Given the description of an element on the screen output the (x, y) to click on. 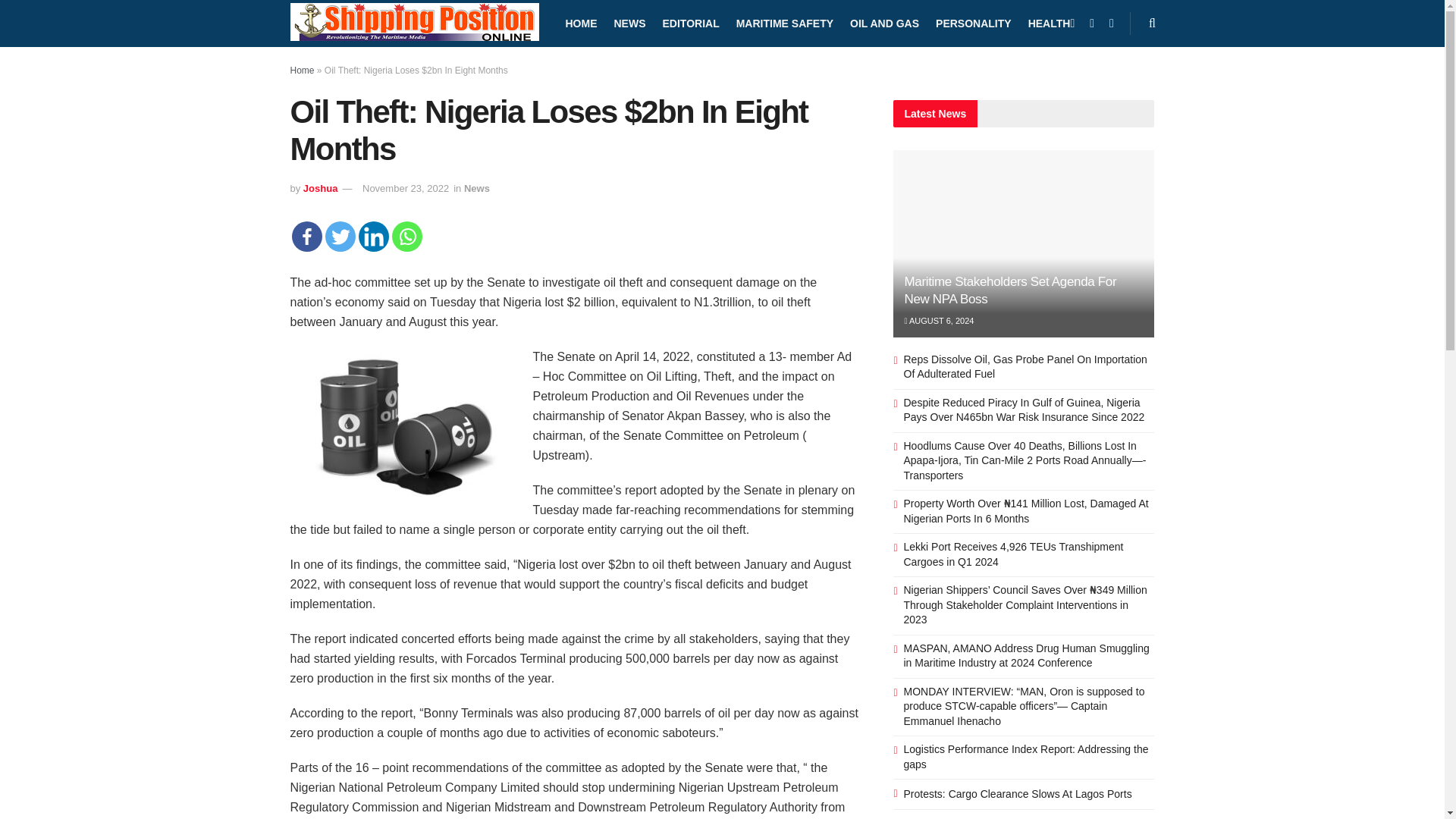
Twitter (339, 236)
Joshua (319, 188)
HEALTH (1048, 23)
Linkedin (373, 236)
News (476, 188)
EDITORIAL (690, 23)
November 23, 2022 (405, 188)
PERSONALITY (973, 23)
Home (301, 70)
Whatsapp (406, 236)
